Given the description of an element on the screen output the (x, y) to click on. 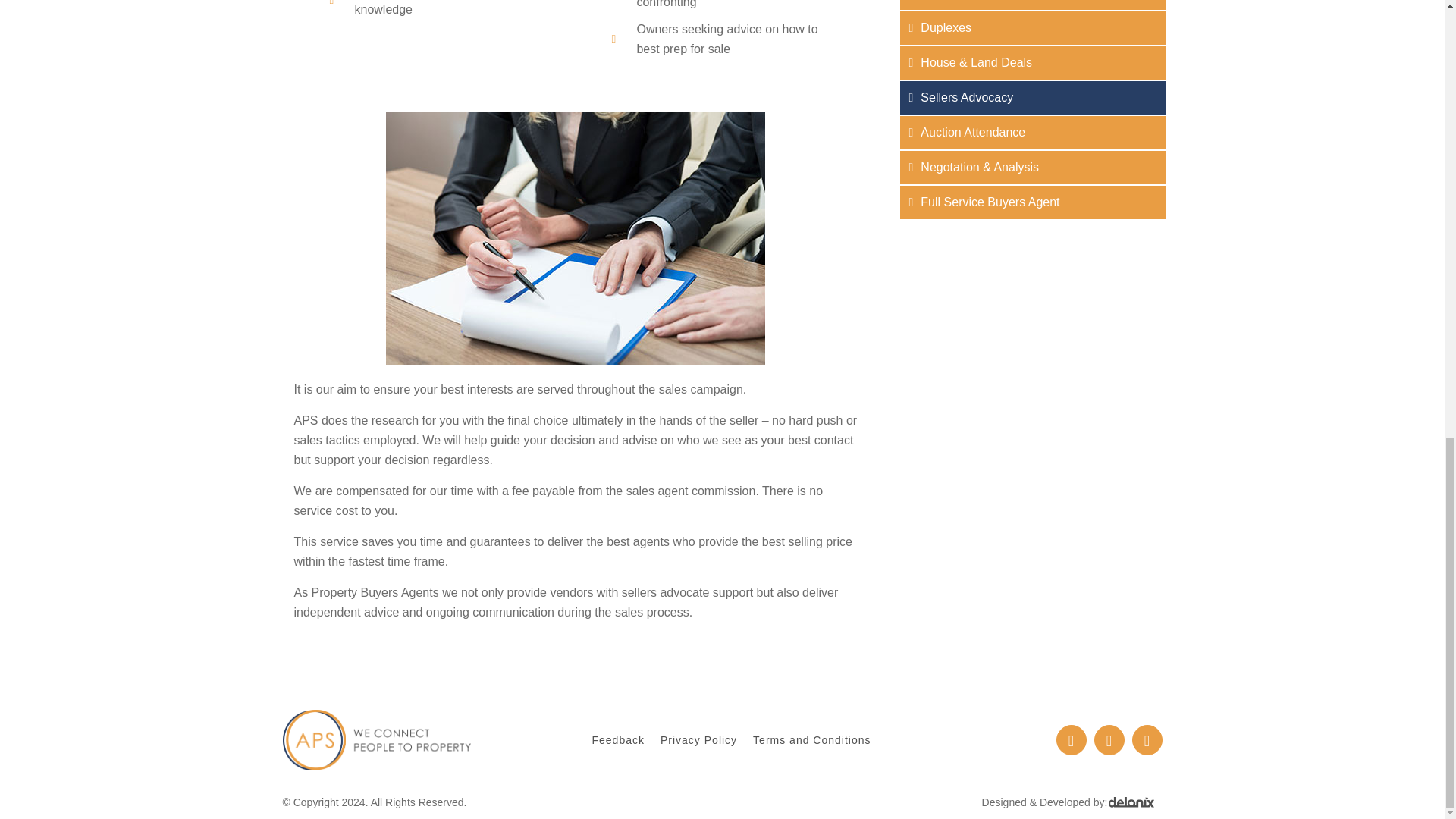
Privacy Policy (698, 740)
Services-Seller-Advocacy2 (575, 238)
Duplexes (1032, 28)
Auction Attendance (1032, 132)
Sellers Advocacy (1032, 97)
Dual Keys (1032, 4)
APS-Header-logo (376, 740)
Feedback (616, 740)
Terms and Conditions (811, 740)
Full Service Buyers Agent (1032, 202)
